Given the description of an element on the screen output the (x, y) to click on. 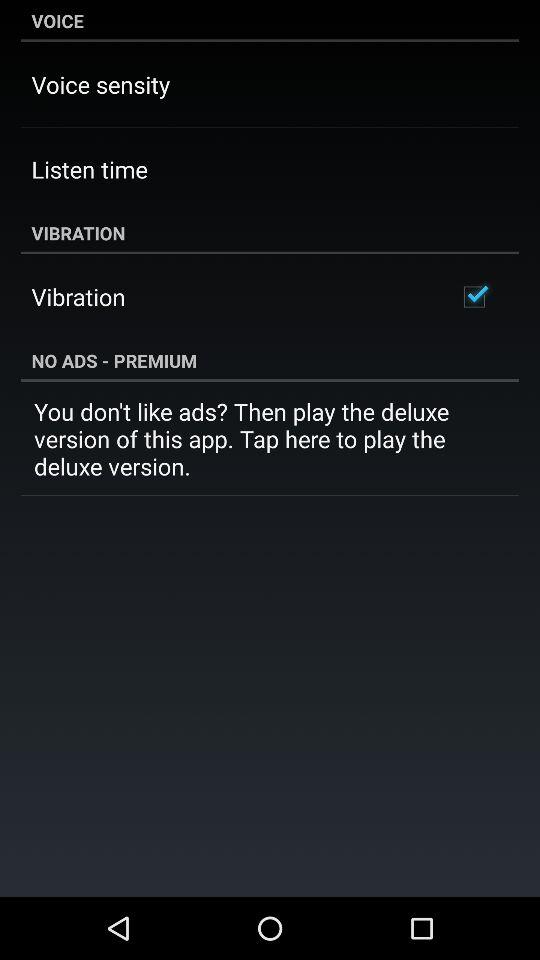
open icon next to the vibration icon (474, 296)
